Given the description of an element on the screen output the (x, y) to click on. 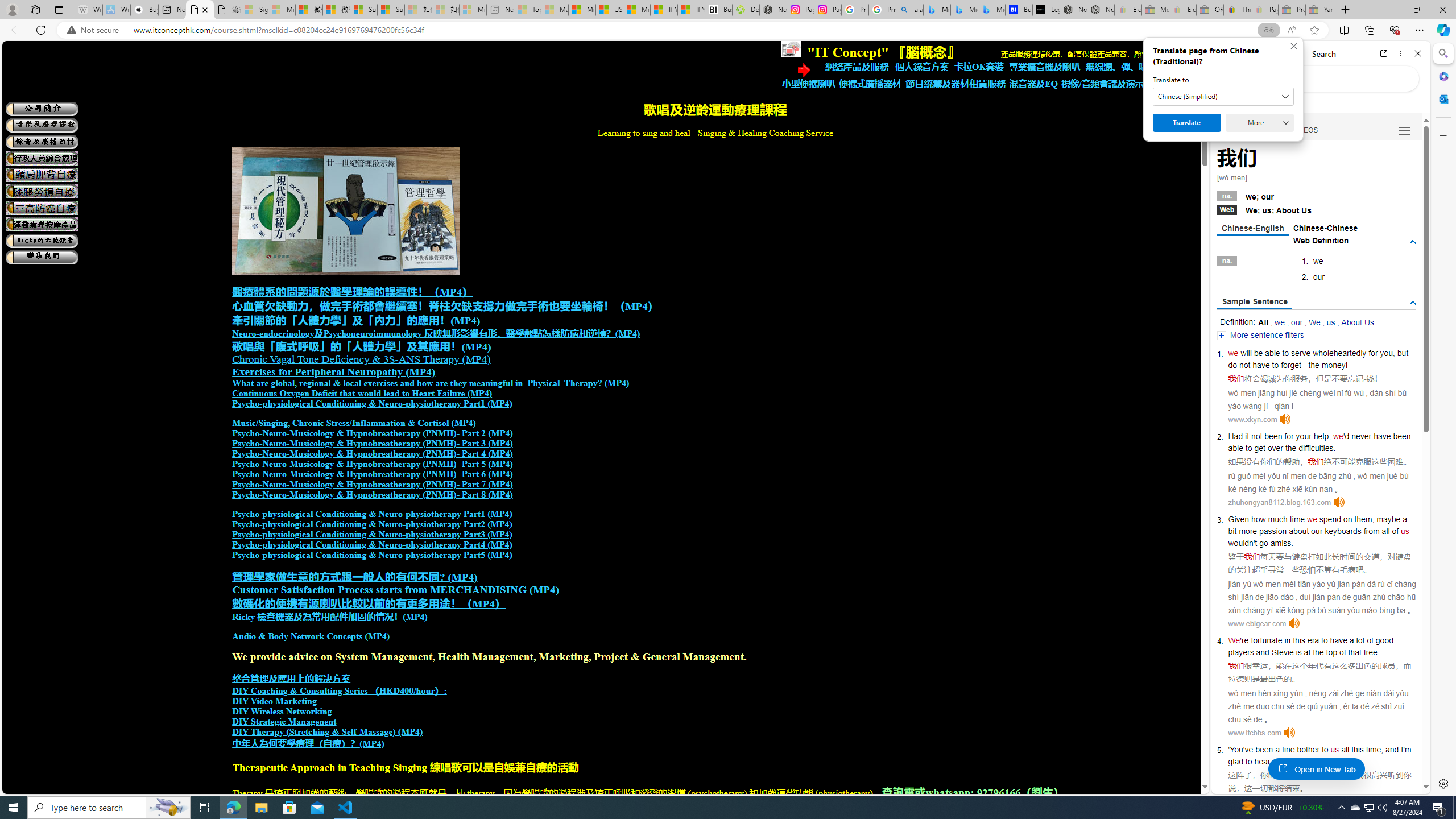
More options (1401, 53)
Show translate options (1268, 29)
not (1256, 435)
Settings (1442, 783)
alabama high school quarterback dies - Search (909, 9)
Music/Singing, Chronic Stress/Inflammation & Cortisol (MP4) (353, 422)
in (1287, 640)
- (1364, 378)
going (1294, 760)
Class: b_serphb (1404, 130)
